Given the description of an element on the screen output the (x, y) to click on. 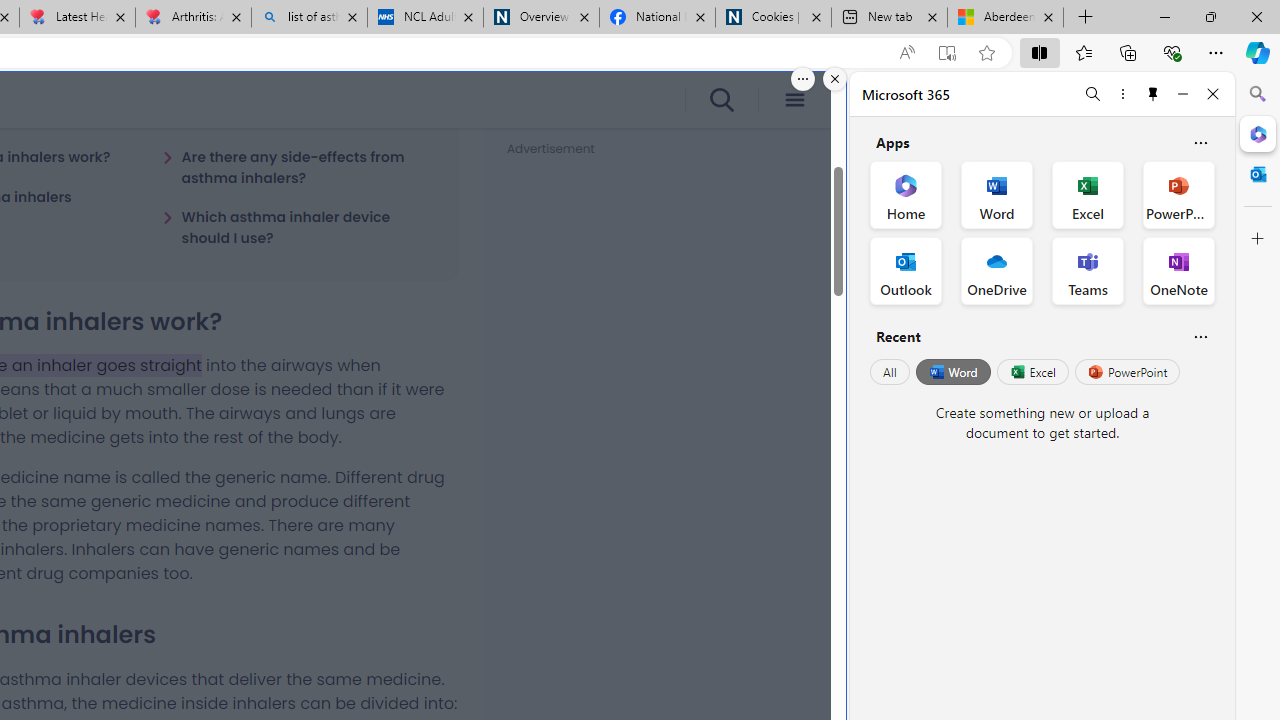
Is this helpful? (1200, 336)
Cookies | About | NICE (772, 17)
PowerPoint (1127, 372)
Excel (1031, 372)
Home Office App (906, 194)
